Given the description of an element on the screen output the (x, y) to click on. 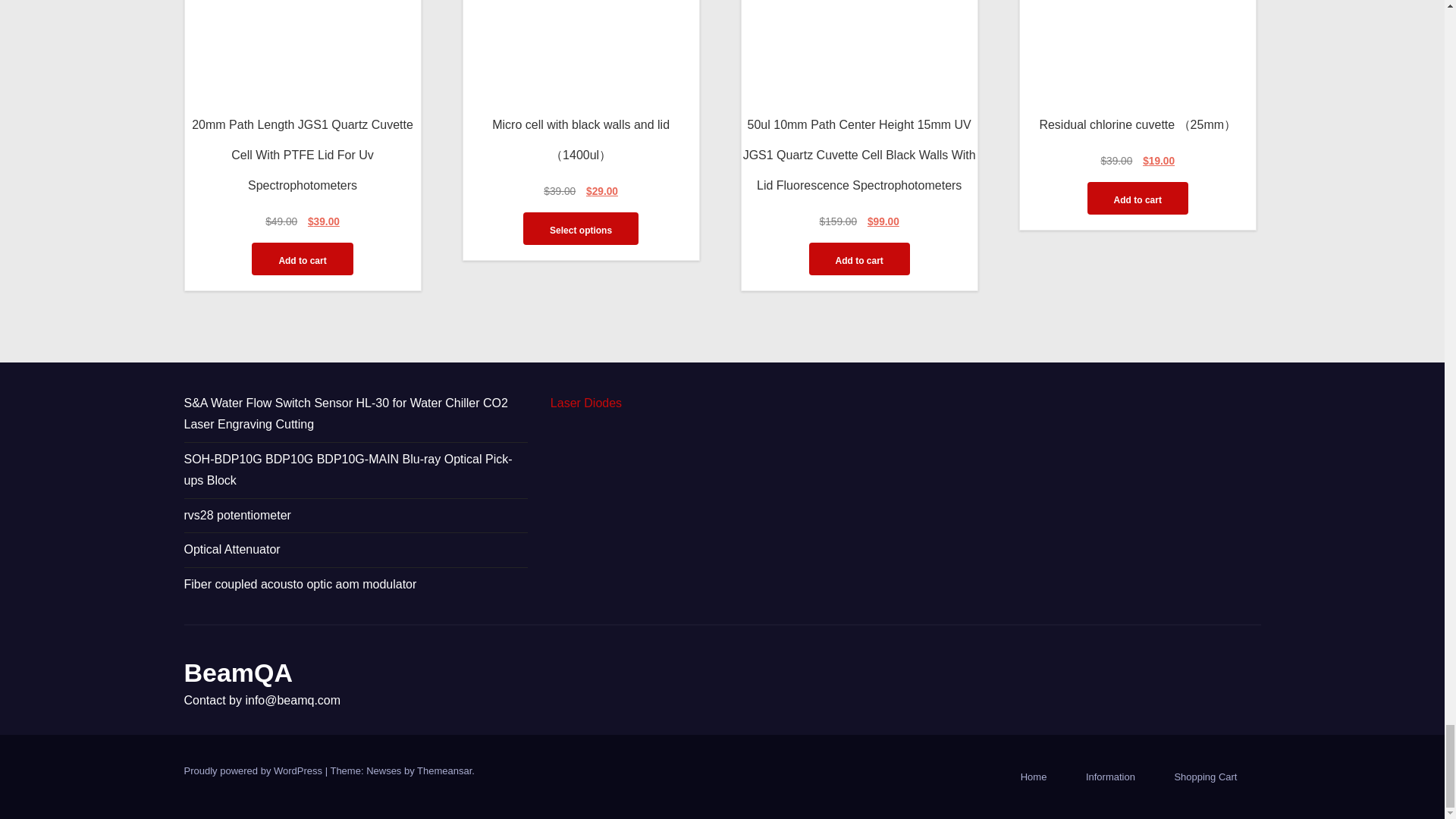
Add to cart (1137, 197)
Select options (580, 228)
Add to cart (301, 258)
Add to cart (858, 258)
Information (1110, 776)
rvs28 potentiometer (236, 514)
SOH-BDP10G BDP10G BDP10G-MAIN Blu-ray Optical Pick-ups Block (347, 469)
Laser Diodes (585, 402)
Fiber coupled acousto optic aom modulator (299, 584)
Home (1034, 776)
Shopping Cart (1205, 776)
BeamQA (237, 672)
Optical Attenuator (231, 549)
